Given the description of an element on the screen output the (x, y) to click on. 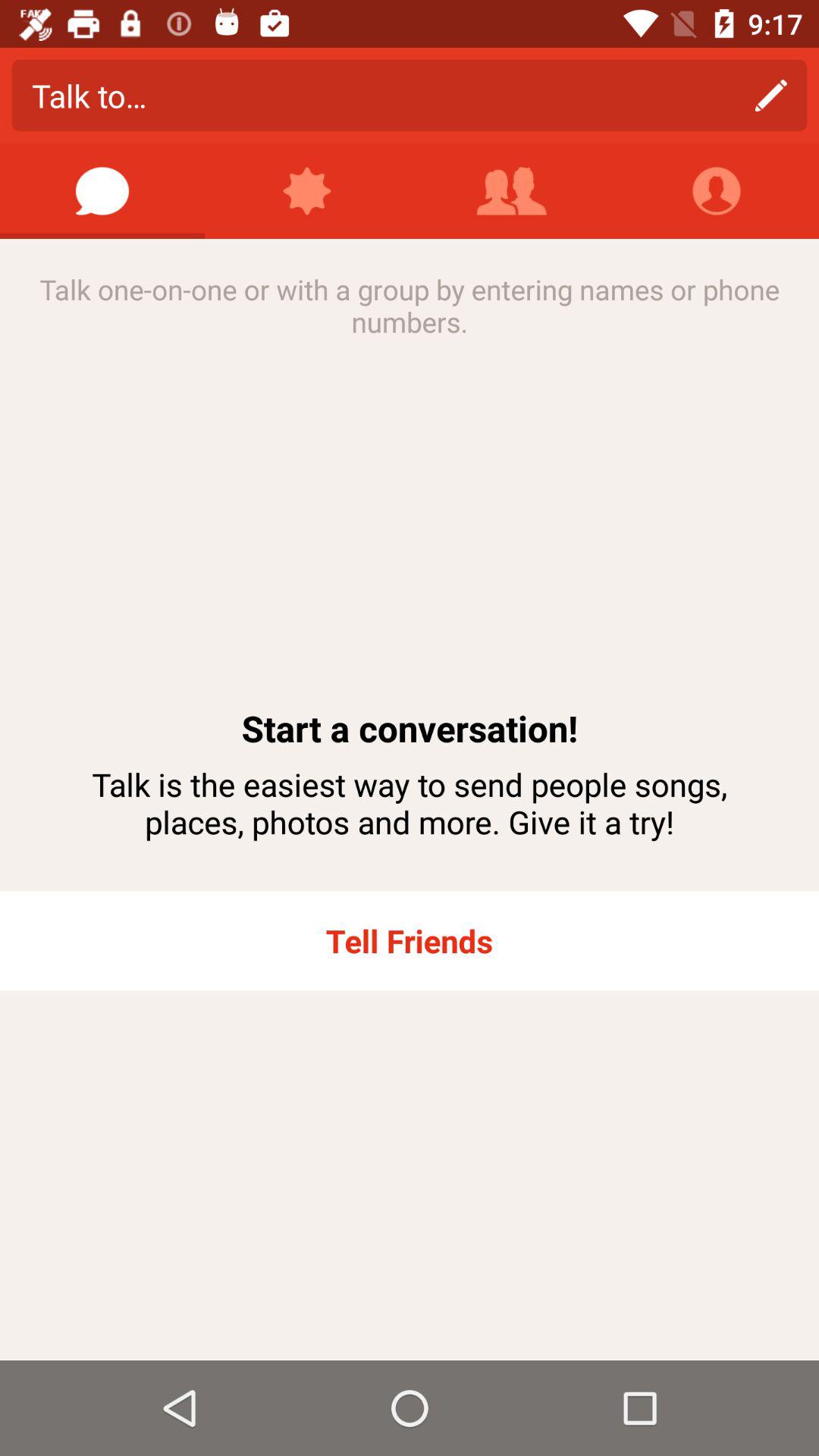
open app above the talk one on (511, 190)
